Given the description of an element on the screen output the (x, y) to click on. 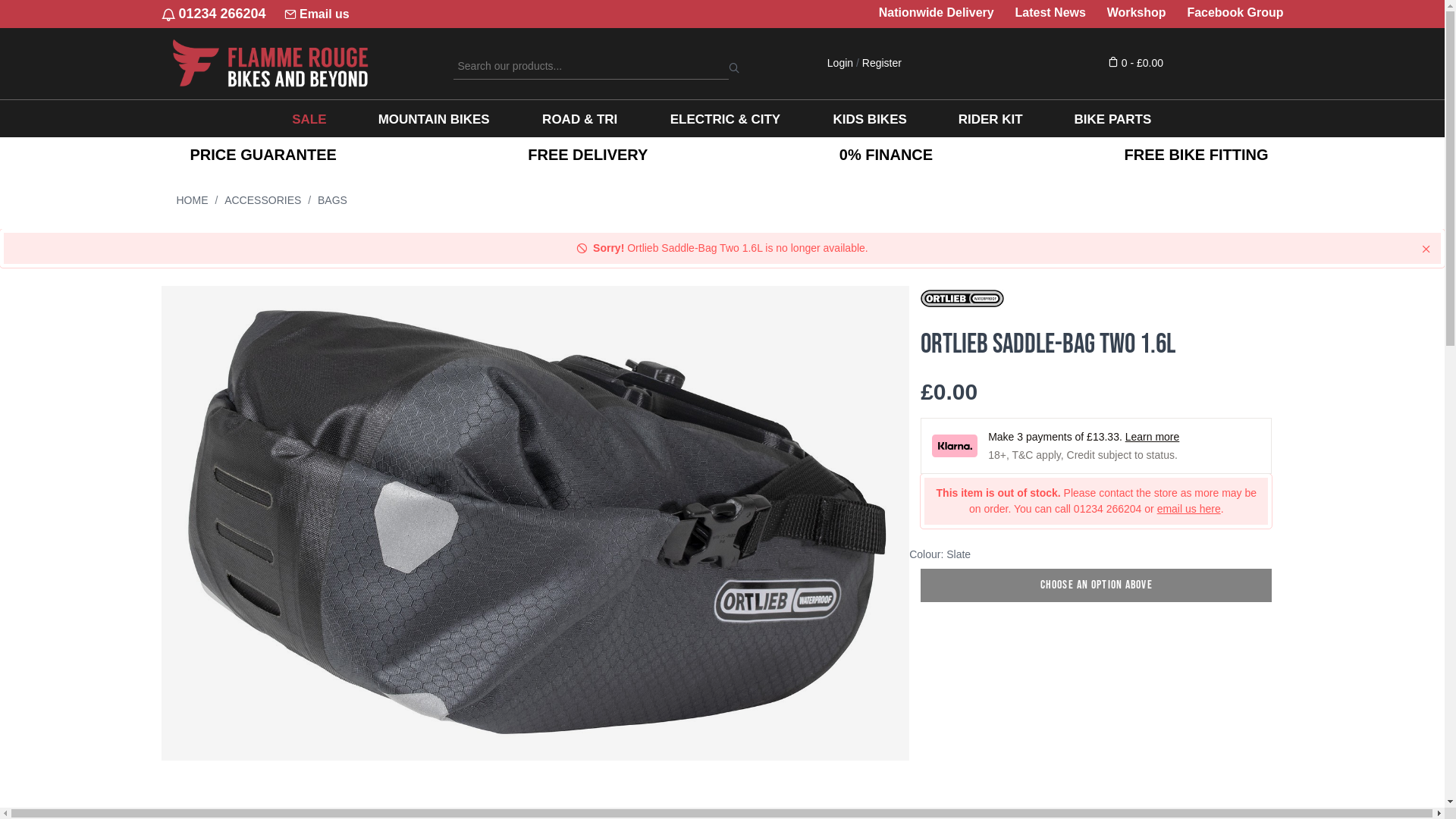
BAGS Element type: text (332, 200)
Choose an option above Element type: text (1095, 585)
FREE DELIVERY Element type: text (587, 154)
ROAD & TRI Element type: text (579, 118)
FREE BIKE FITTING Element type: text (1195, 154)
Workshop Element type: text (1136, 12)
BIKE PARTS Element type: text (1112, 118)
HOME Element type: text (191, 200)
Register Element type: text (881, 62)
RIDER KIT Element type: text (990, 118)
Nationwide Delivery Element type: text (936, 12)
PRICE GUARANTEE Element type: text (262, 154)
MOUNTAIN BIKES Element type: text (433, 118)
Email us Element type: text (316, 14)
KIDS BIKES Element type: text (868, 118)
SALE Element type: text (308, 118)
Login Element type: text (840, 62)
Latest News Element type: text (1049, 12)
0% FINANCE Element type: text (885, 154)
email us here Element type: text (1188, 508)
ELECTRIC & CITY Element type: text (724, 118)
ACCESSORIES Element type: text (262, 200)
01234 266204 Element type: text (212, 13)
Facebook Group Element type: text (1234, 12)
